Given the description of an element on the screen output the (x, y) to click on. 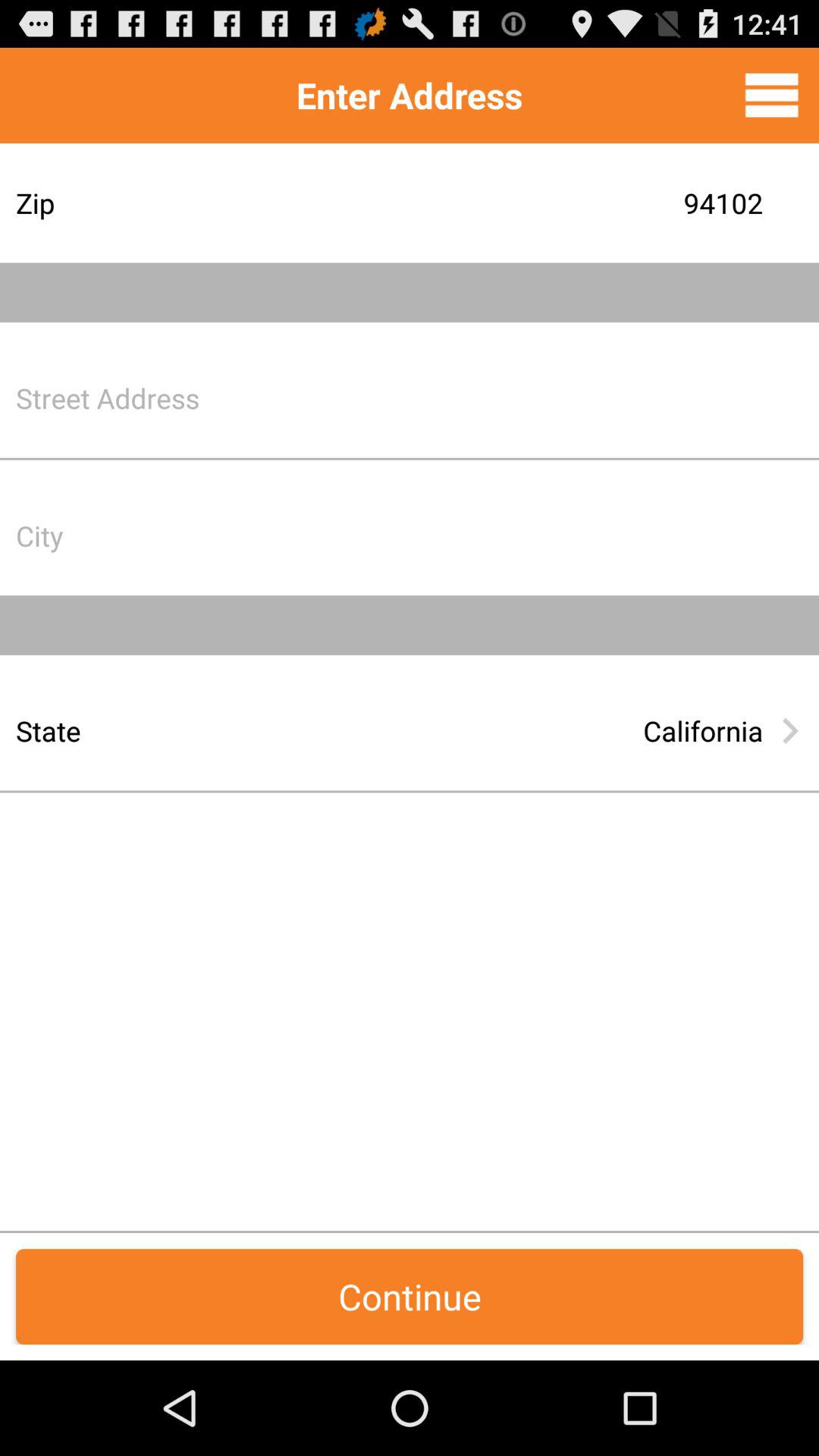
open icon to the right of enter address item (771, 95)
